Given the description of an element on the screen output the (x, y) to click on. 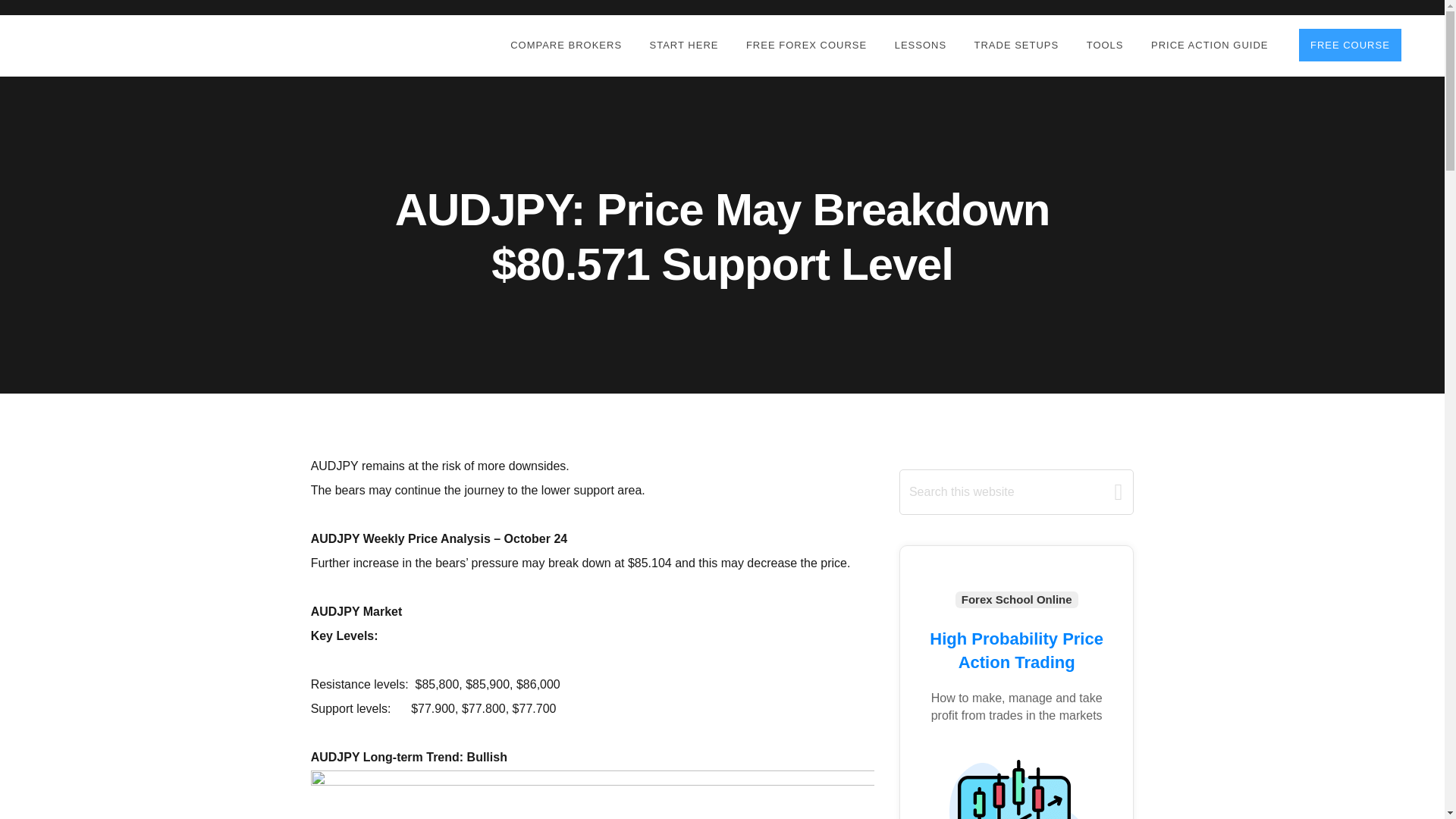
COMPARE BROKERS (566, 44)
FREE FOREX COURSE (805, 44)
ForexSchoolOnline.com (119, 43)
START HERE (684, 44)
